Given the description of an element on the screen output the (x, y) to click on. 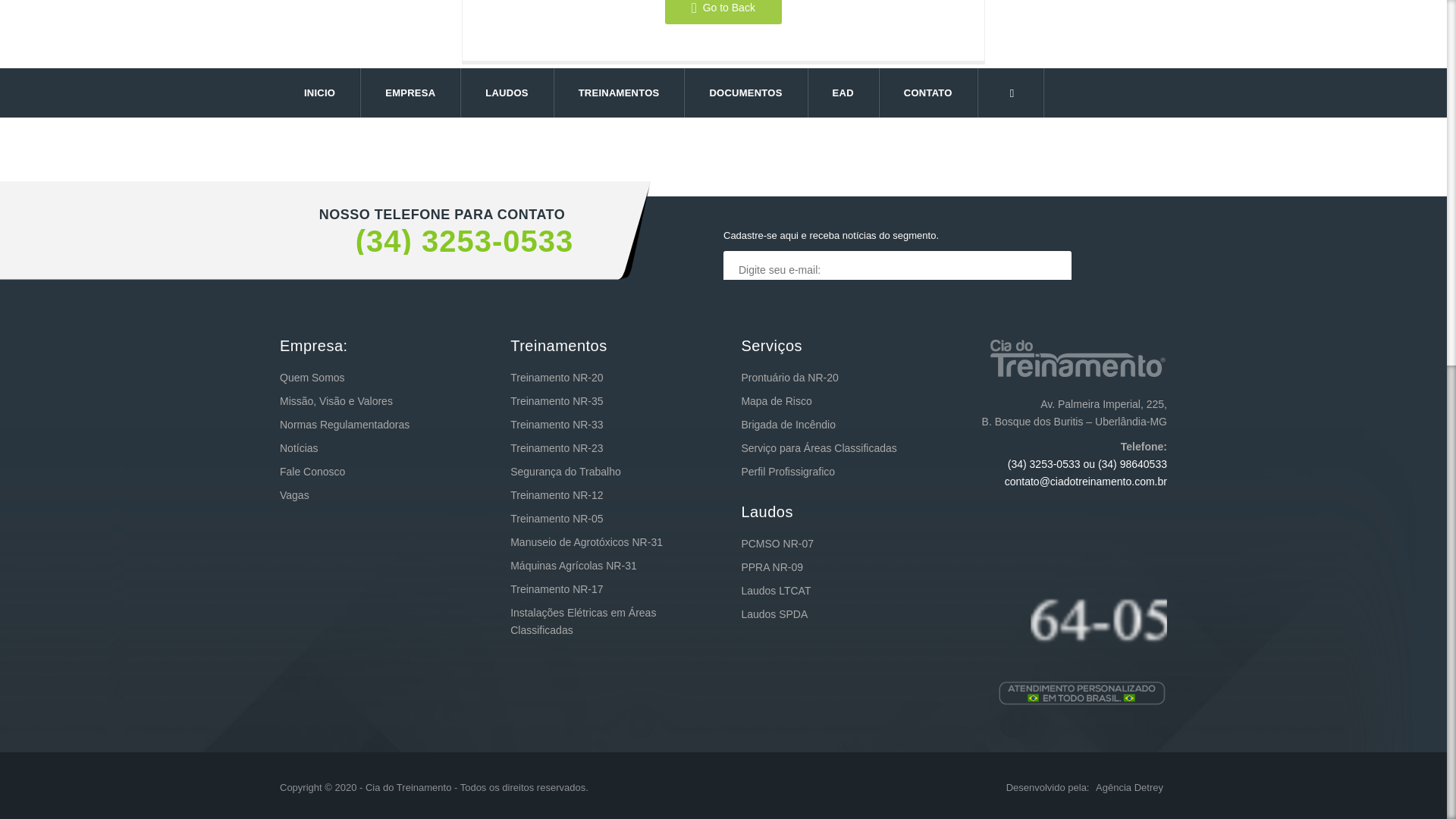
Clique para entrar em contato pelo WhatsApp. (1098, 658)
Sign Up (777, 307)
Clique para entrar em contato pelo WhatsApp. (1132, 463)
